Given the description of an element on the screen output the (x, y) to click on. 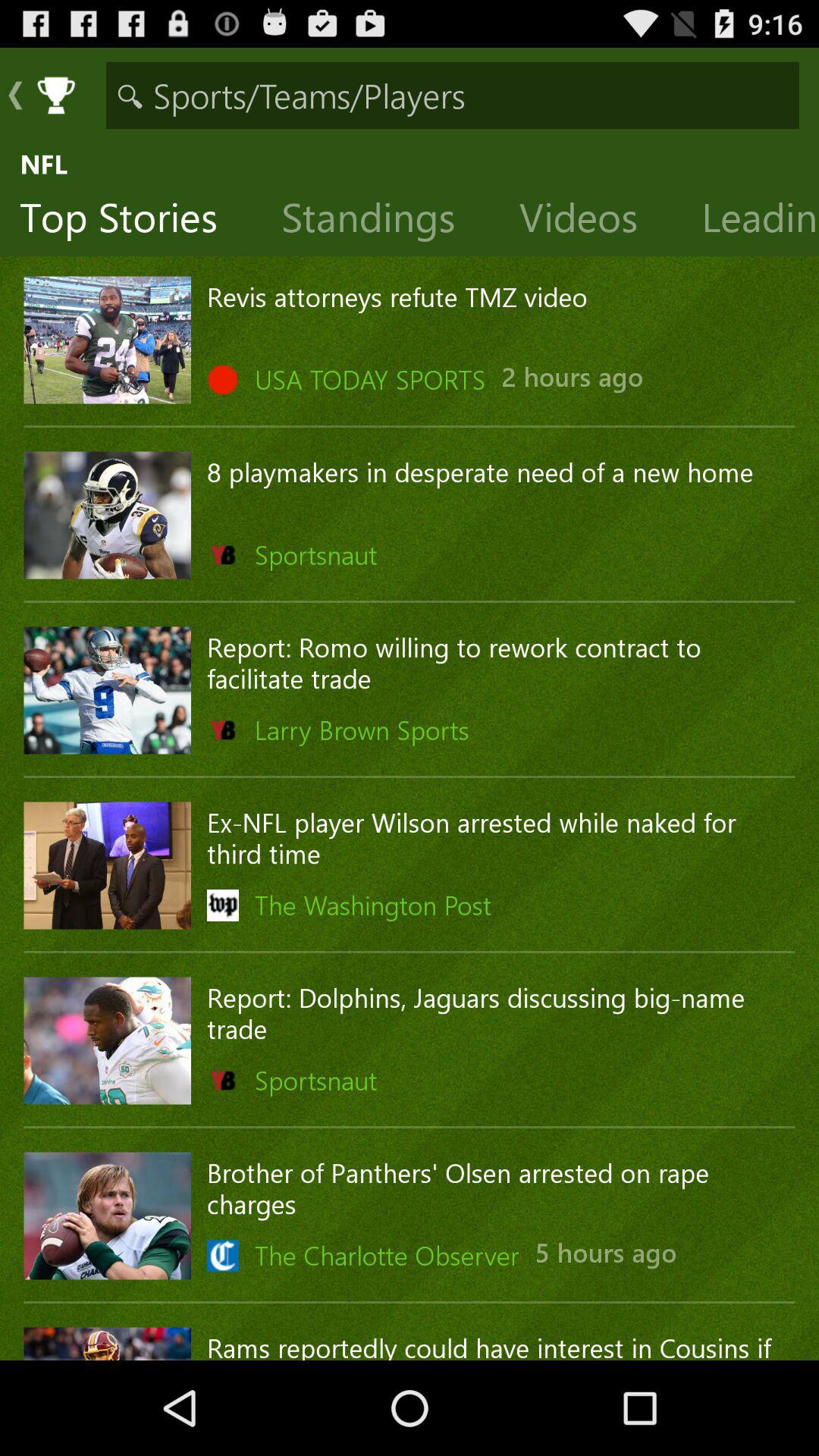
open icon next to the standings item (130, 220)
